Given the description of an element on the screen output the (x, y) to click on. 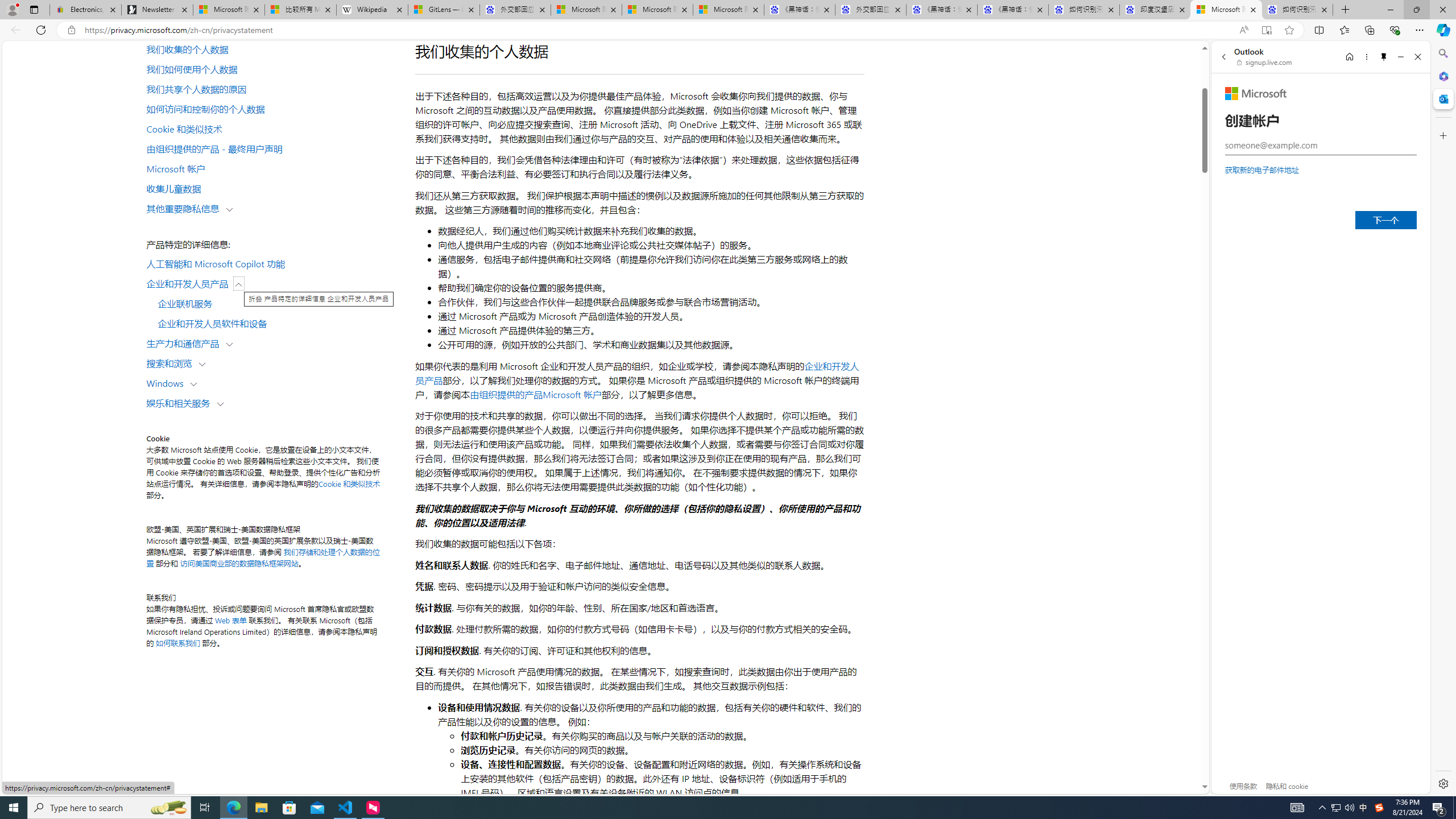
Newsletter Sign Up (157, 9)
Microsoft (1255, 93)
